Given the description of an element on the screen output the (x, y) to click on. 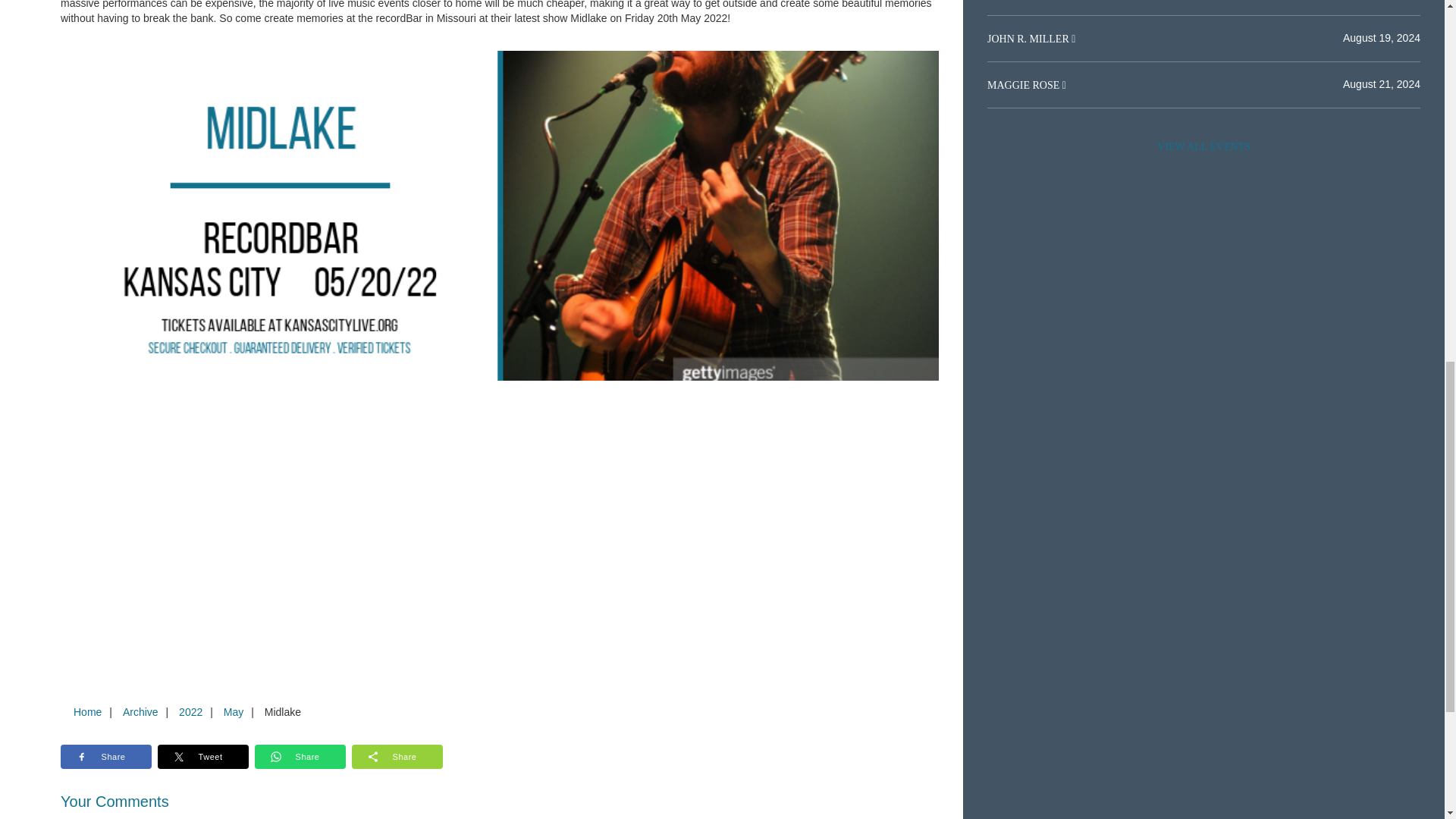
May (232, 711)
Home (87, 711)
VIEW ALL EVENTS (1203, 146)
Archive (140, 711)
2022 (190, 711)
